Given the description of an element on the screen output the (x, y) to click on. 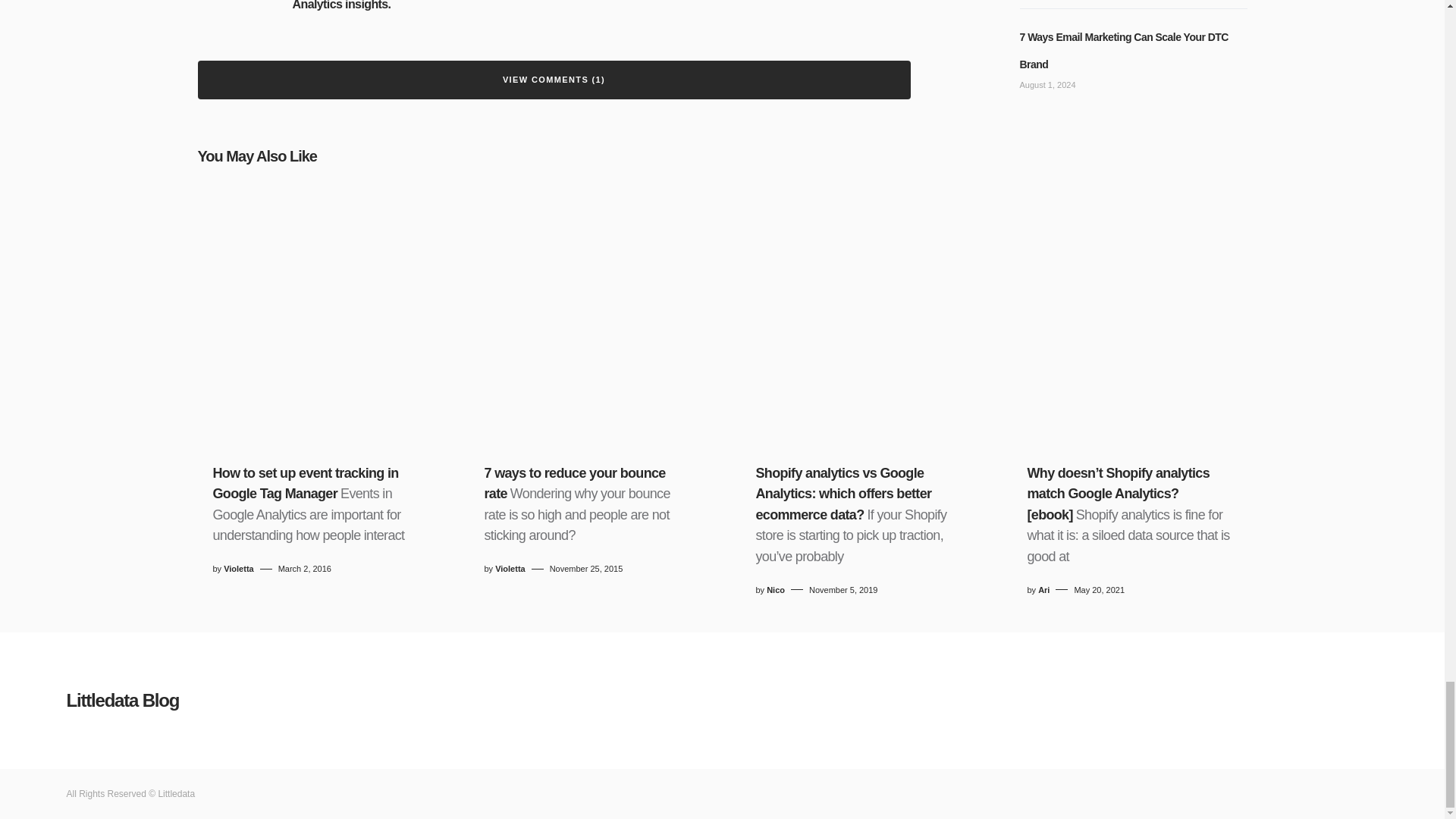
View all posts by Violetta (238, 568)
View all posts by Nico (775, 590)
View all posts by Violetta (510, 568)
